Given the description of an element on the screen output the (x, y) to click on. 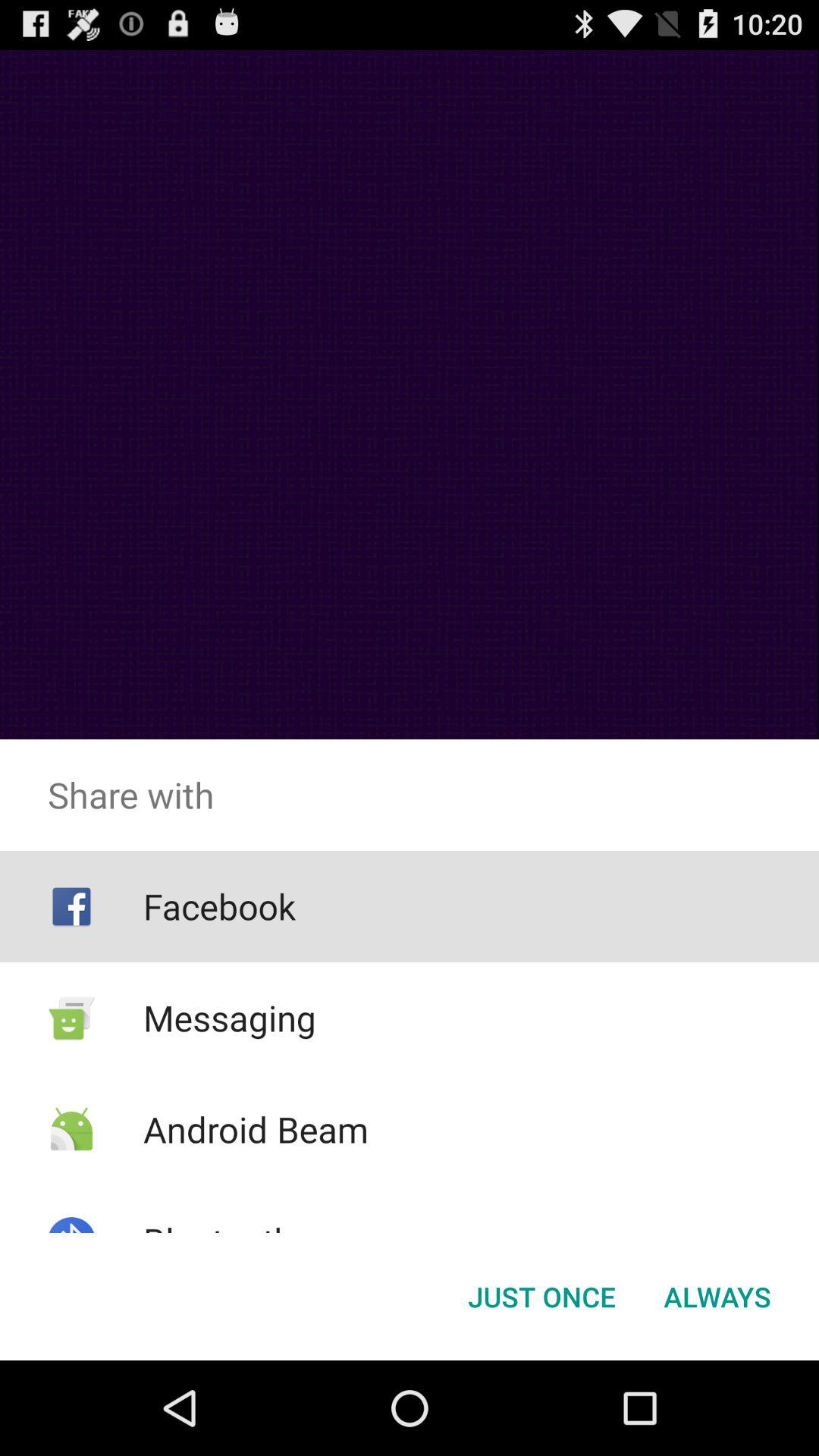
turn off the app below messaging icon (255, 1129)
